Given the description of an element on the screen output the (x, y) to click on. 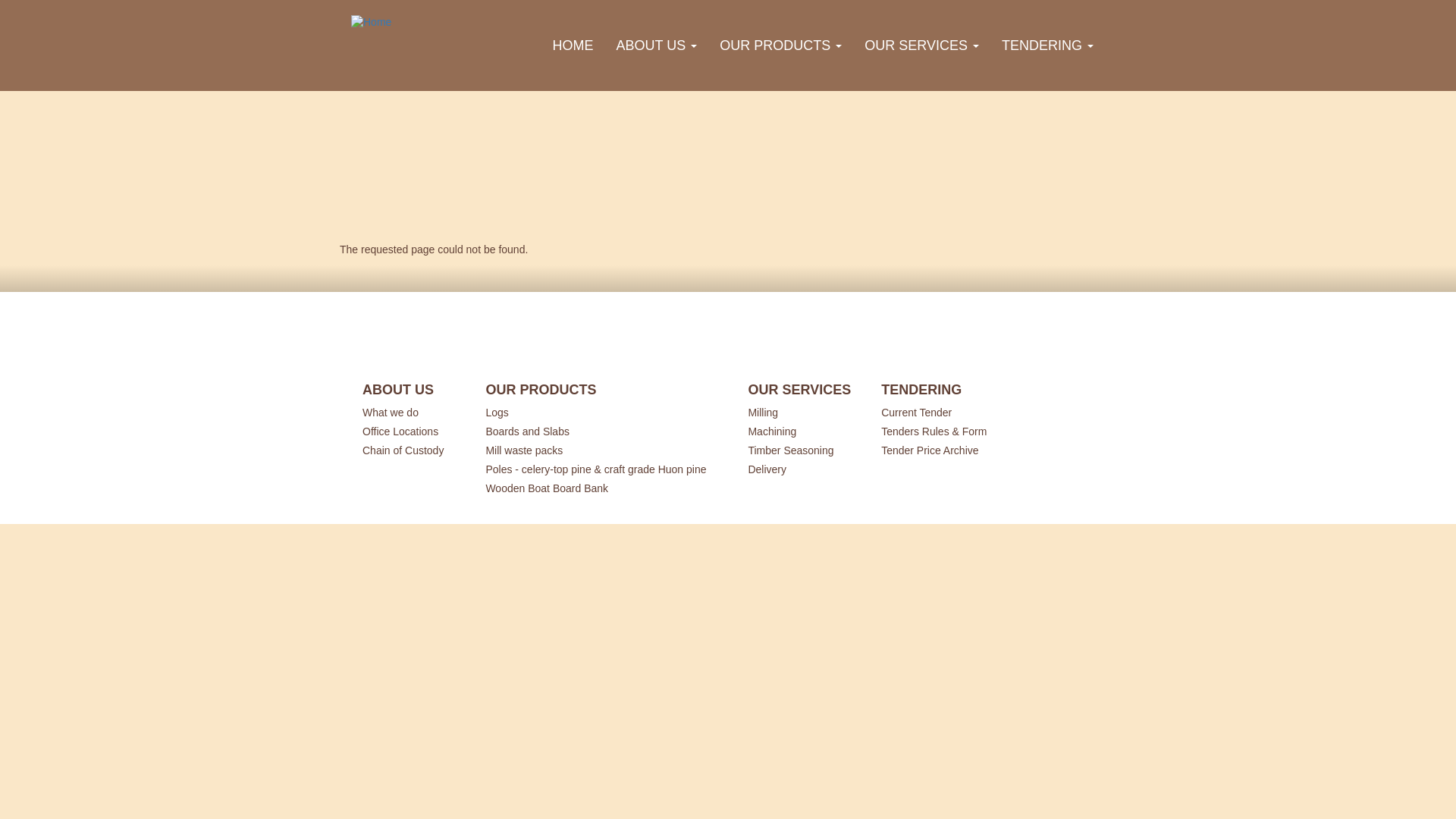
Skip to main content Element type: text (0, 0)
ABOUT US Element type: text (657, 45)
Tenders Rules & Form Element type: text (939, 429)
HOME Element type: text (573, 45)
TENDERING Element type: text (1047, 45)
Chain of Custody Element type: text (408, 448)
Current Tender Element type: text (939, 410)
OUR PRODUCTS Element type: text (780, 45)
What we do Element type: text (408, 410)
Office Locations Element type: text (408, 429)
Delivery Element type: text (795, 467)
Wooden Boat Board Bank Element type: text (601, 486)
Home Element type: hover (376, 22)
OUR SERVICES Element type: text (921, 45)
Mill waste packs Element type: text (601, 448)
Timber Seasoning Element type: text (795, 448)
Machining Element type: text (795, 429)
Poles - celery-top pine & craft grade Huon pine Element type: text (601, 467)
Tender Price Archive Element type: text (939, 448)
Boards and Slabs Element type: text (601, 429)
Milling Element type: text (795, 410)
Logs Element type: text (601, 410)
